Given the description of an element on the screen output the (x, y) to click on. 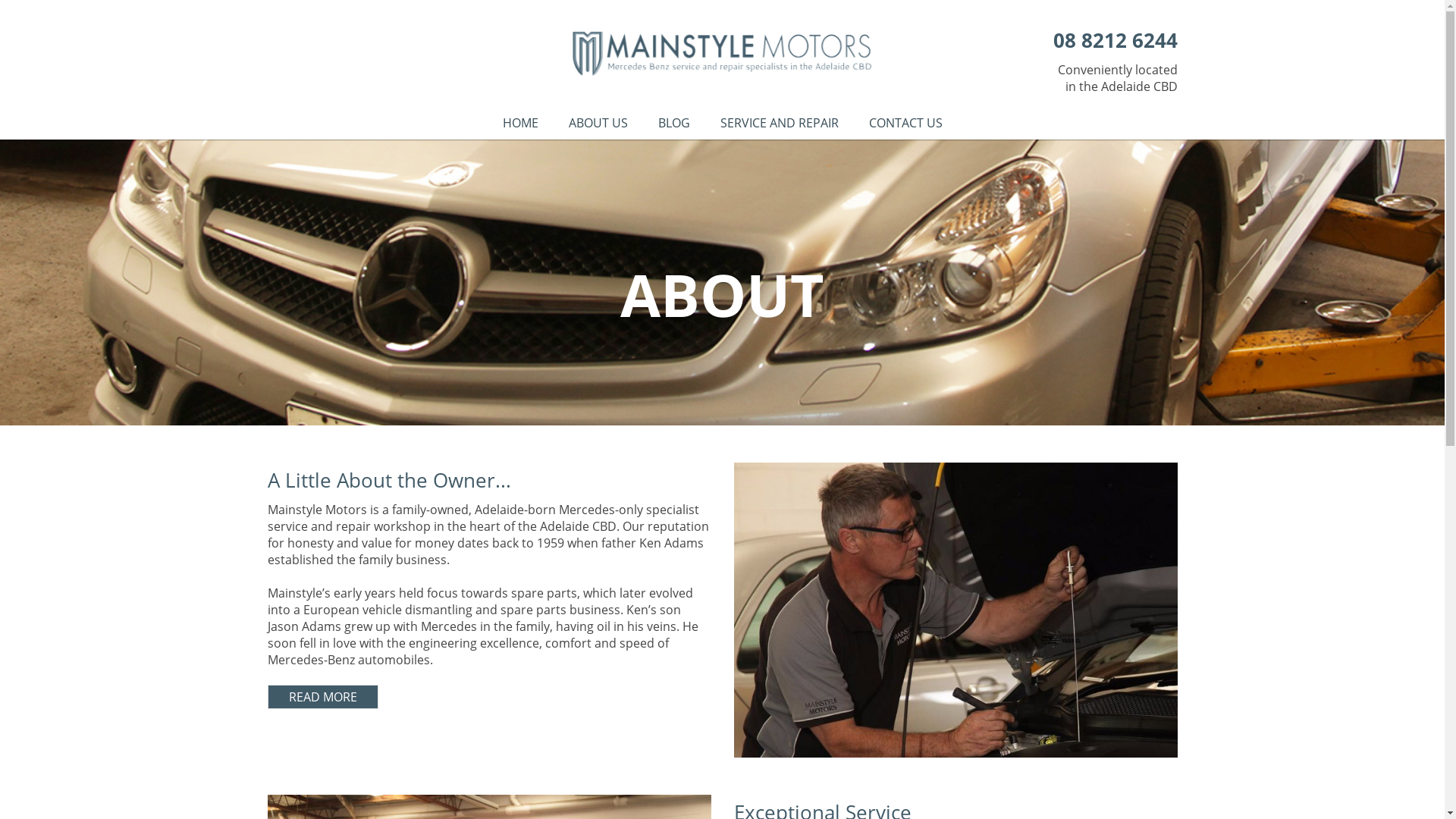
SERVICE AND REPAIR Element type: text (779, 122)
READ MORE Element type: text (321, 696)
HOME Element type: text (519, 122)
Mainstyle Motors Element type: hover (721, 53)
READ MORE Element type: text (486, 696)
ABOUT US Element type: text (598, 122)
BLOG Element type: text (674, 122)
CONTACT US Element type: text (905, 122)
